Given the description of an element on the screen output the (x, y) to click on. 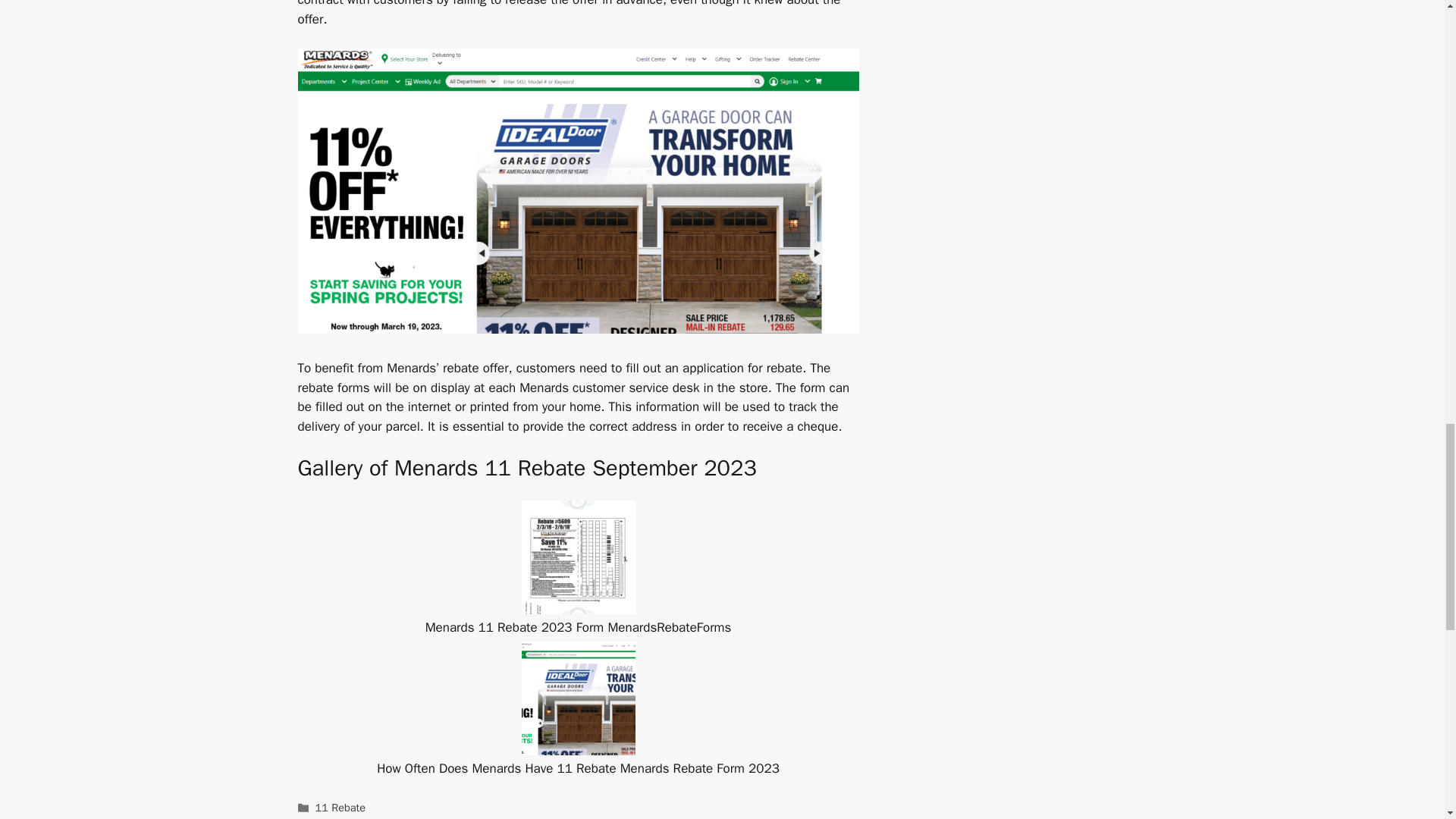
11 Rebate (340, 807)
